Given the description of an element on the screen output the (x, y) to click on. 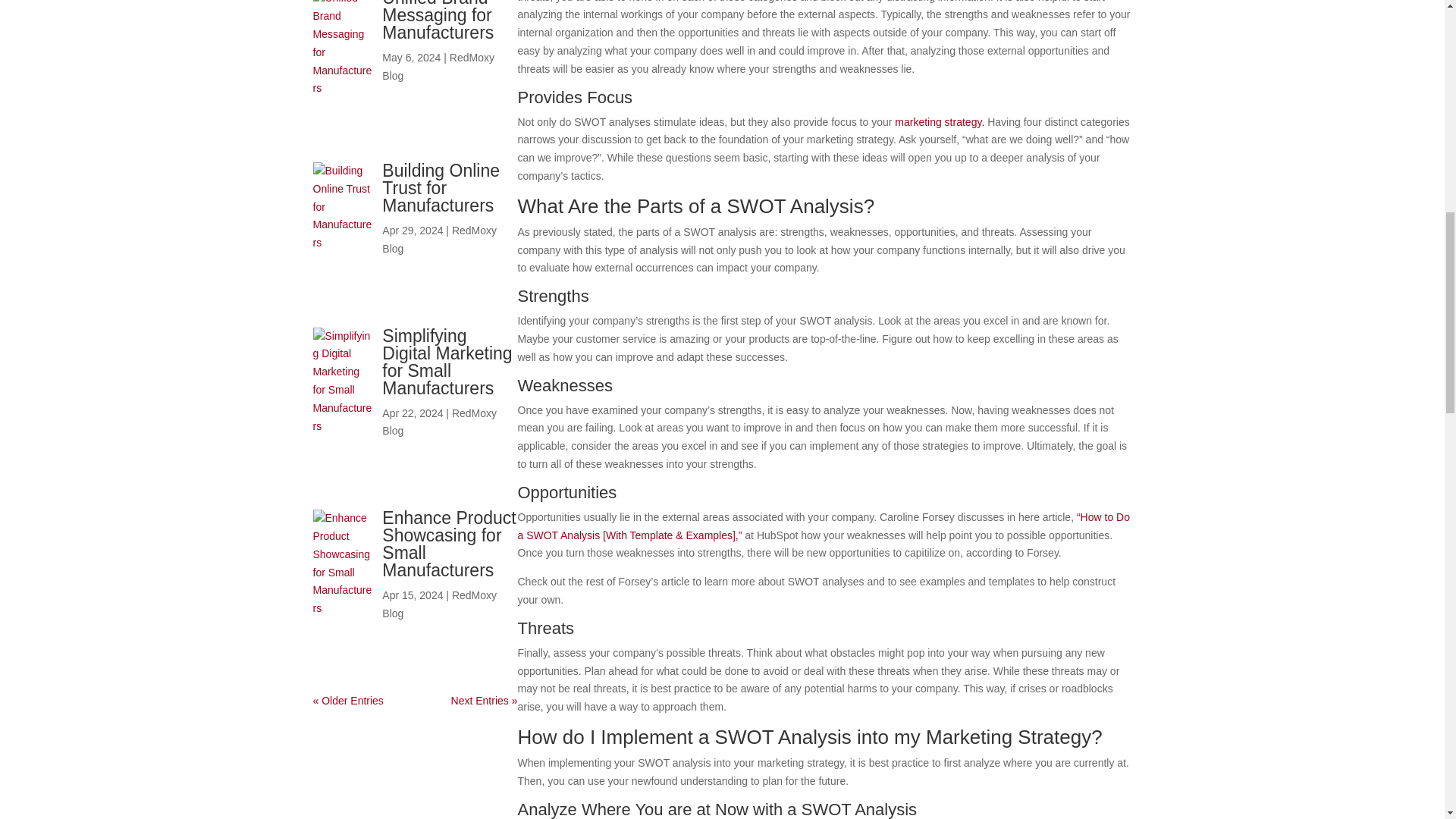
Unified Brand Messaging for Manufacturers (437, 21)
RedMoxy Blog (438, 239)
Building Online Trust for Manufacturers (440, 187)
RedMoxy Blog (438, 66)
